Given the description of an element on the screen output the (x, y) to click on. 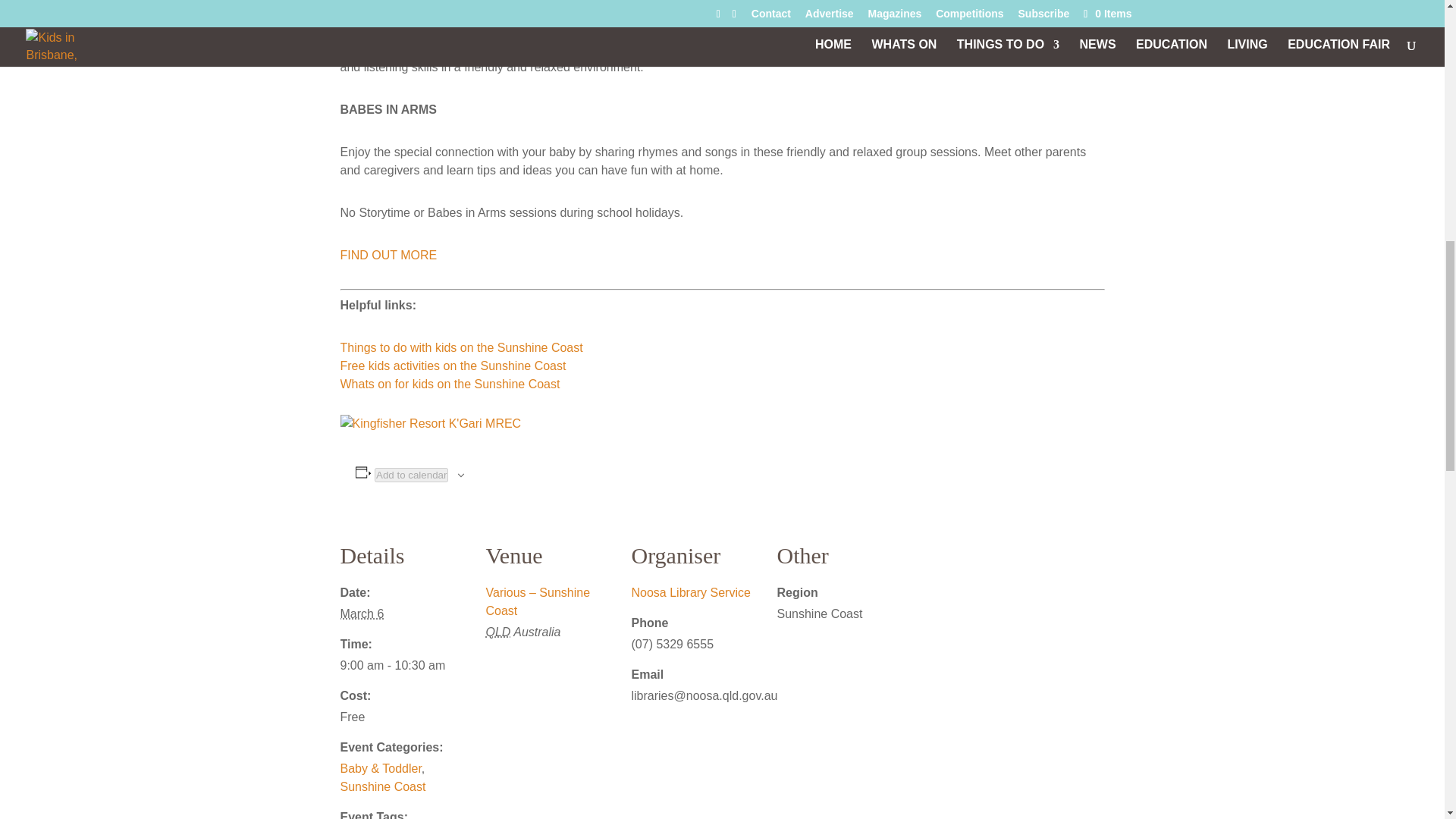
FIND OUT MORE (387, 254)
Things to do with kids on the Sunshine Coast (460, 347)
Free kids activities on the Sunshine Coast (452, 365)
Add to calendar (411, 474)
Whats on for kids on the Sunshine Coast (449, 383)
Sunshine Coast (382, 786)
